Given the description of an element on the screen output the (x, y) to click on. 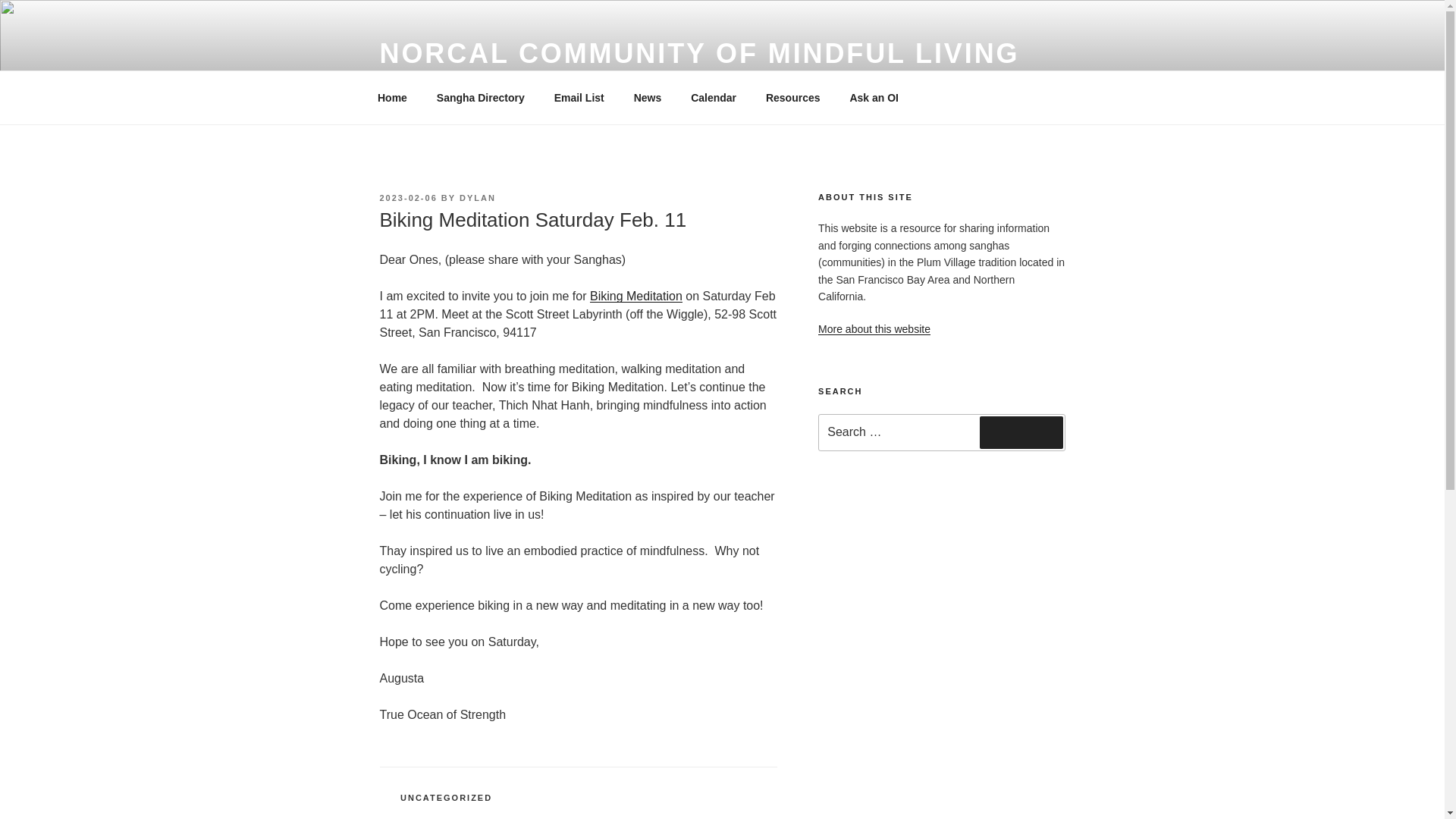
Calendar (713, 97)
More about this website (874, 328)
Email List (578, 97)
UNCATEGORIZED (446, 797)
Biking Meditation (635, 295)
Sangha Directory (480, 97)
Ask an OI (873, 97)
News (647, 97)
Resources (792, 97)
2023-02-06 (407, 197)
